Given the description of an element on the screen output the (x, y) to click on. 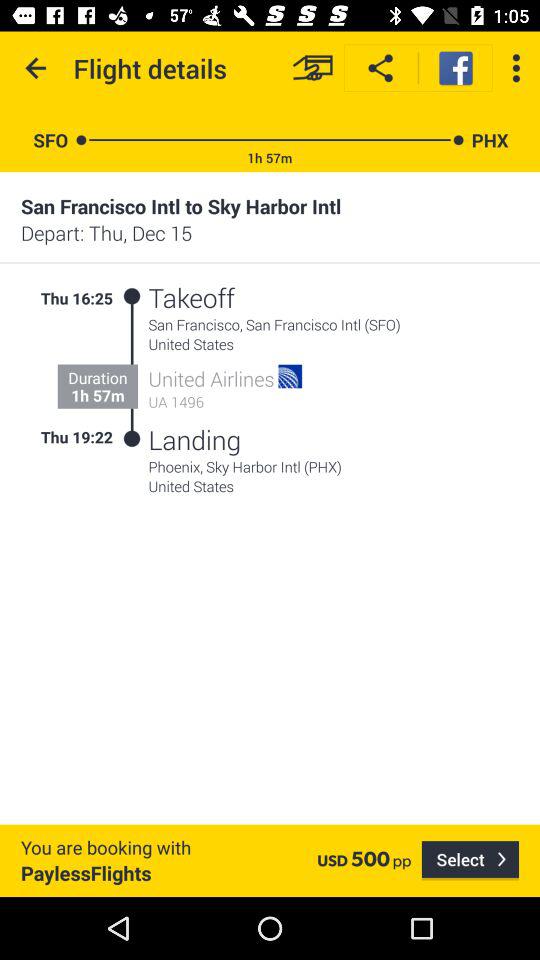
tap duration item (97, 377)
